Given the description of an element on the screen output the (x, y) to click on. 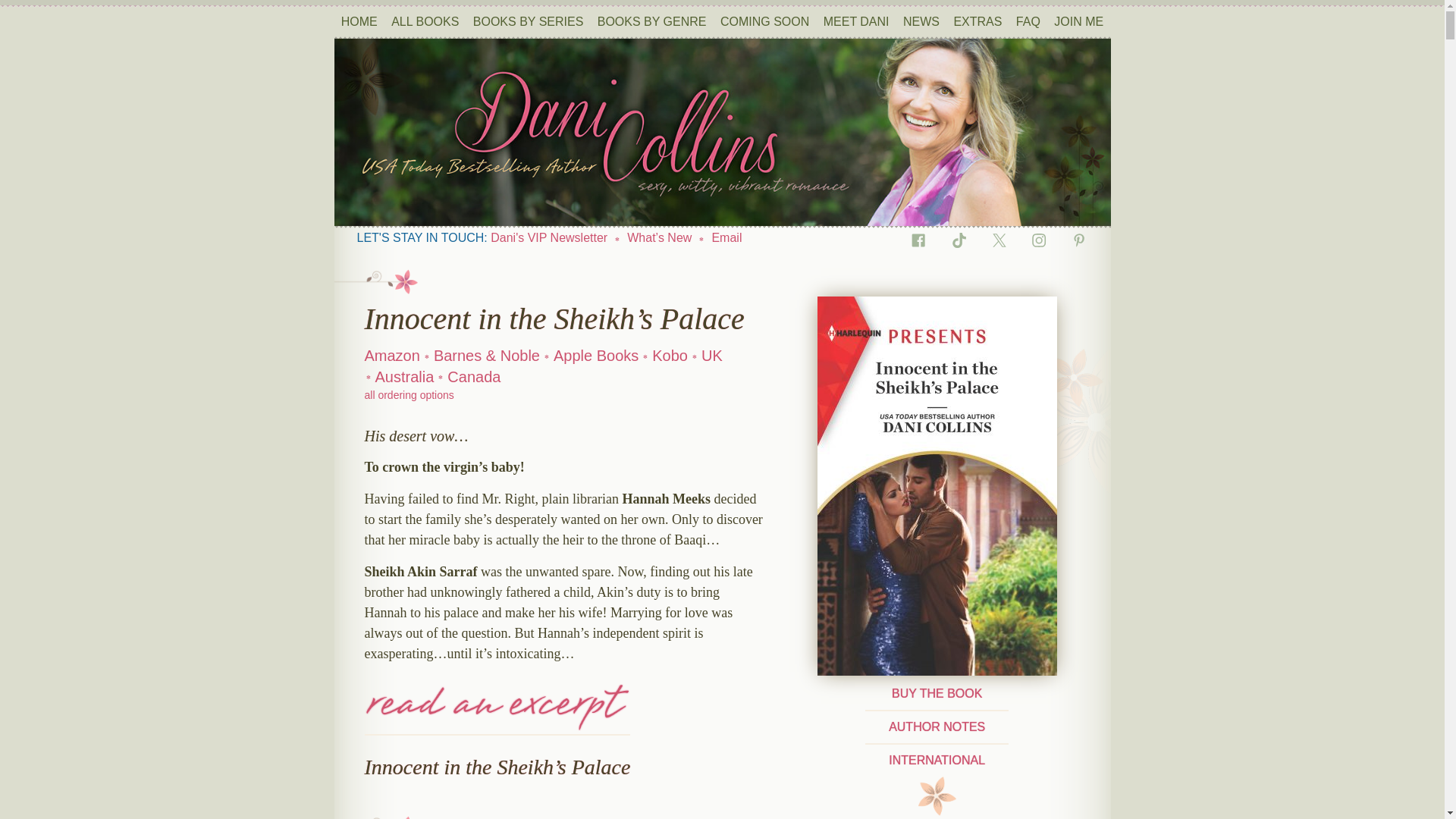
MEET DANI (856, 21)
Amazon (391, 355)
INTERNATIONAL (936, 759)
HOME (358, 21)
Kobo (669, 355)
BOOKS BY GENRE (651, 21)
Canada (473, 376)
BOOKS BY SERIES (528, 21)
AUTHOR NOTES (936, 726)
UK (711, 355)
COMING SOON (764, 21)
NEWS (920, 21)
BUY THE BOOK (936, 693)
Dani's VIP Newsletter (548, 237)
JOIN ME (1078, 21)
